Given the description of an element on the screen output the (x, y) to click on. 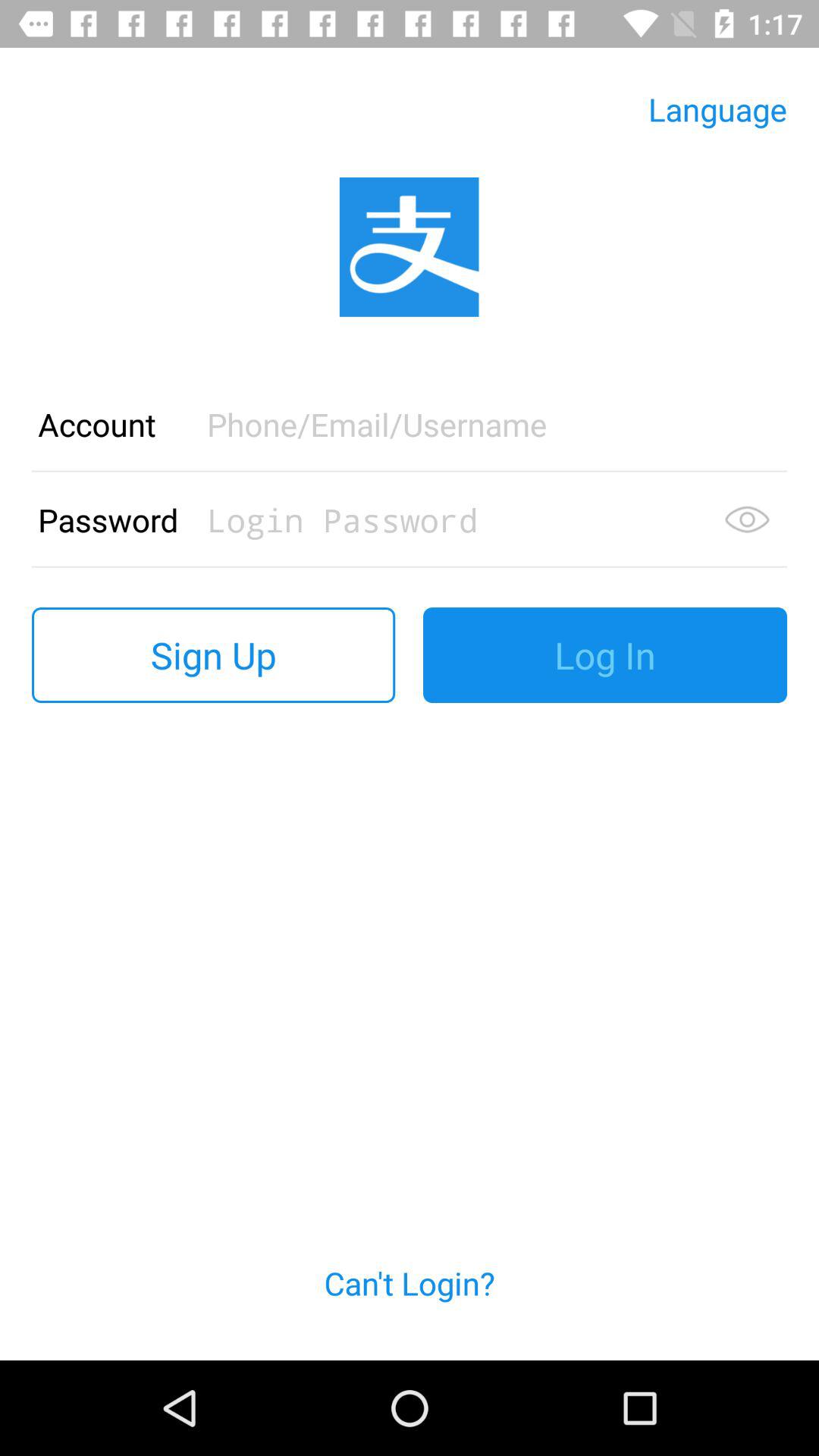
turn on the can't login? icon (409, 1300)
